Given the description of an element on the screen output the (x, y) to click on. 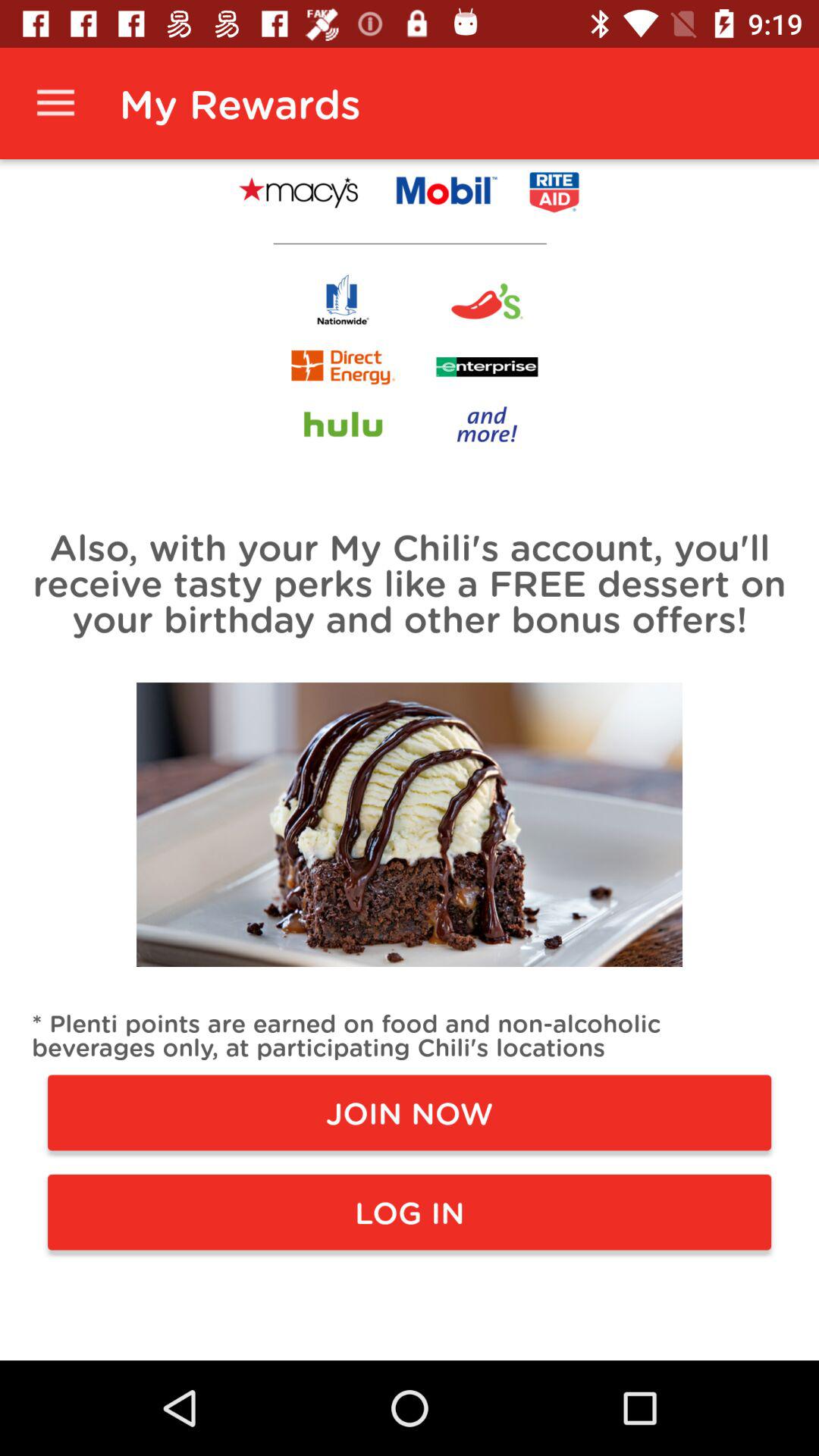
turn on the icon to the left of the my rewards icon (55, 103)
